Given the description of an element on the screen output the (x, y) to click on. 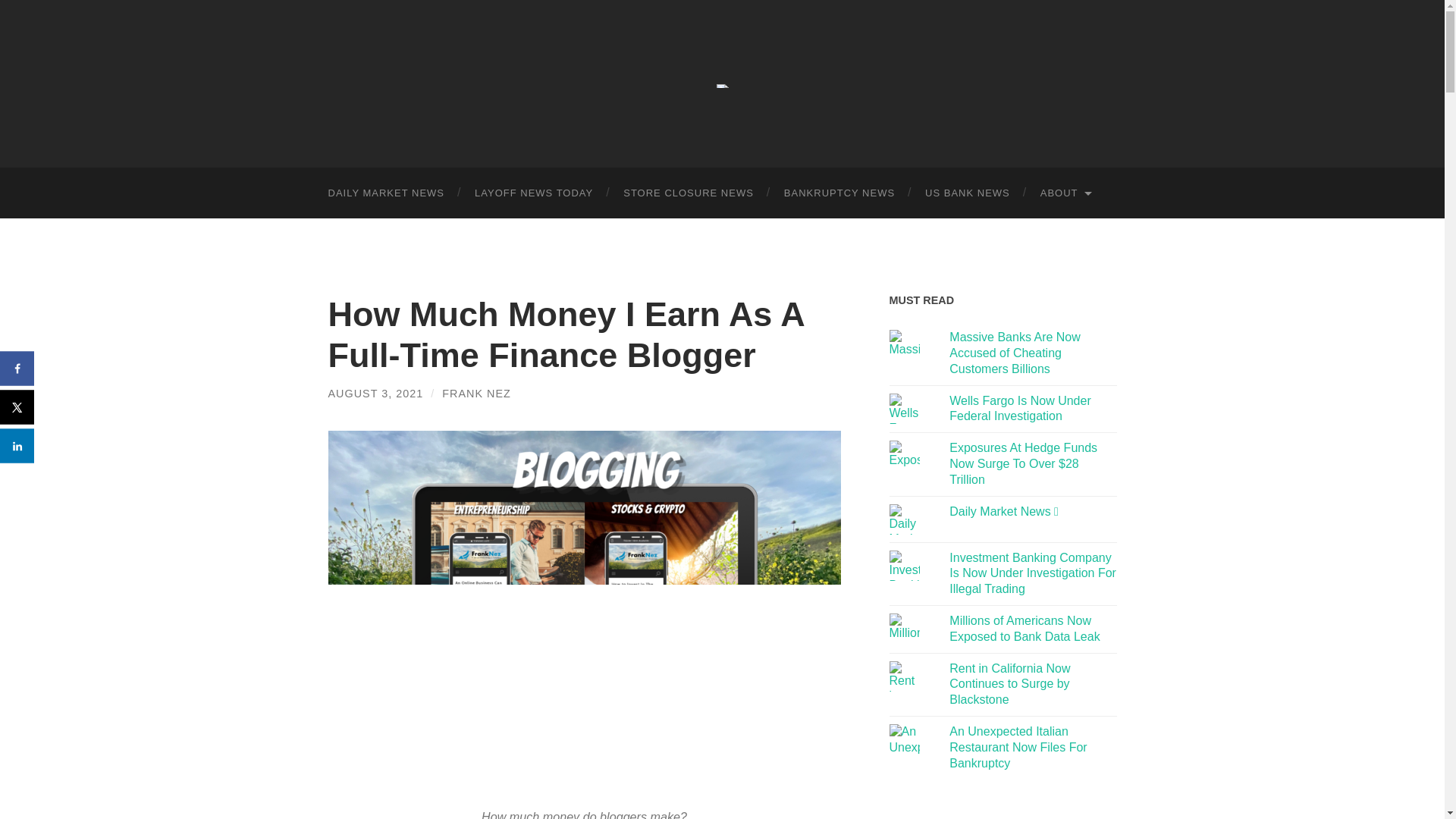
AUGUST 3, 2021 (375, 393)
US BANK NEWS (967, 192)
STORE CLOSURE NEWS (688, 192)
ABOUT (1065, 192)
BANKRUPTCY NEWS (839, 192)
FRANK NEZ (476, 393)
LAYOFF NEWS TODAY (534, 192)
Massive Banks Are Now Accused of Cheating Customers Billions (1014, 352)
DAILY MARKET NEWS (386, 192)
